Given the description of an element on the screen output the (x, y) to click on. 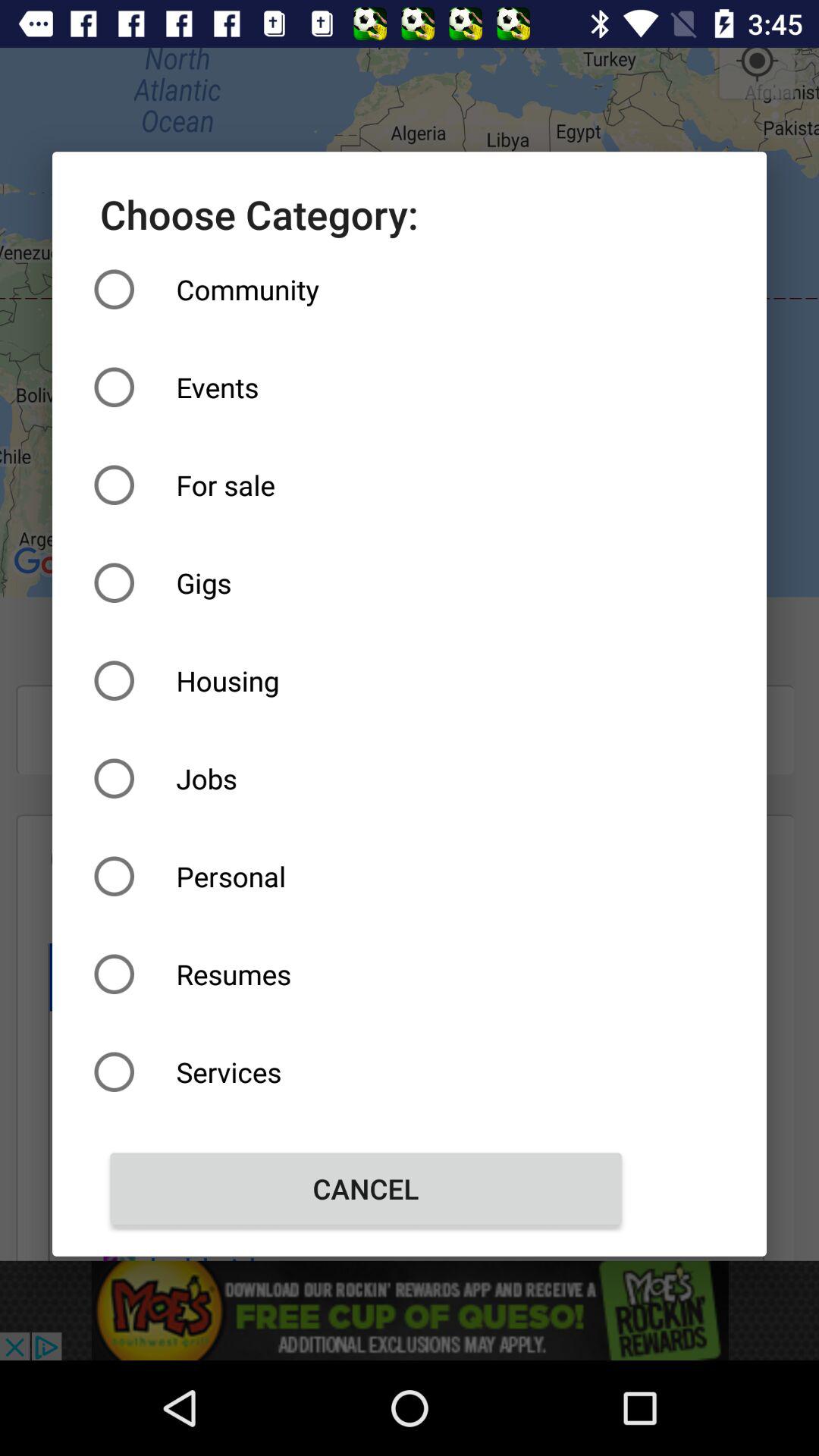
turn on item above services (365, 974)
